Given the description of an element on the screen output the (x, y) to click on. 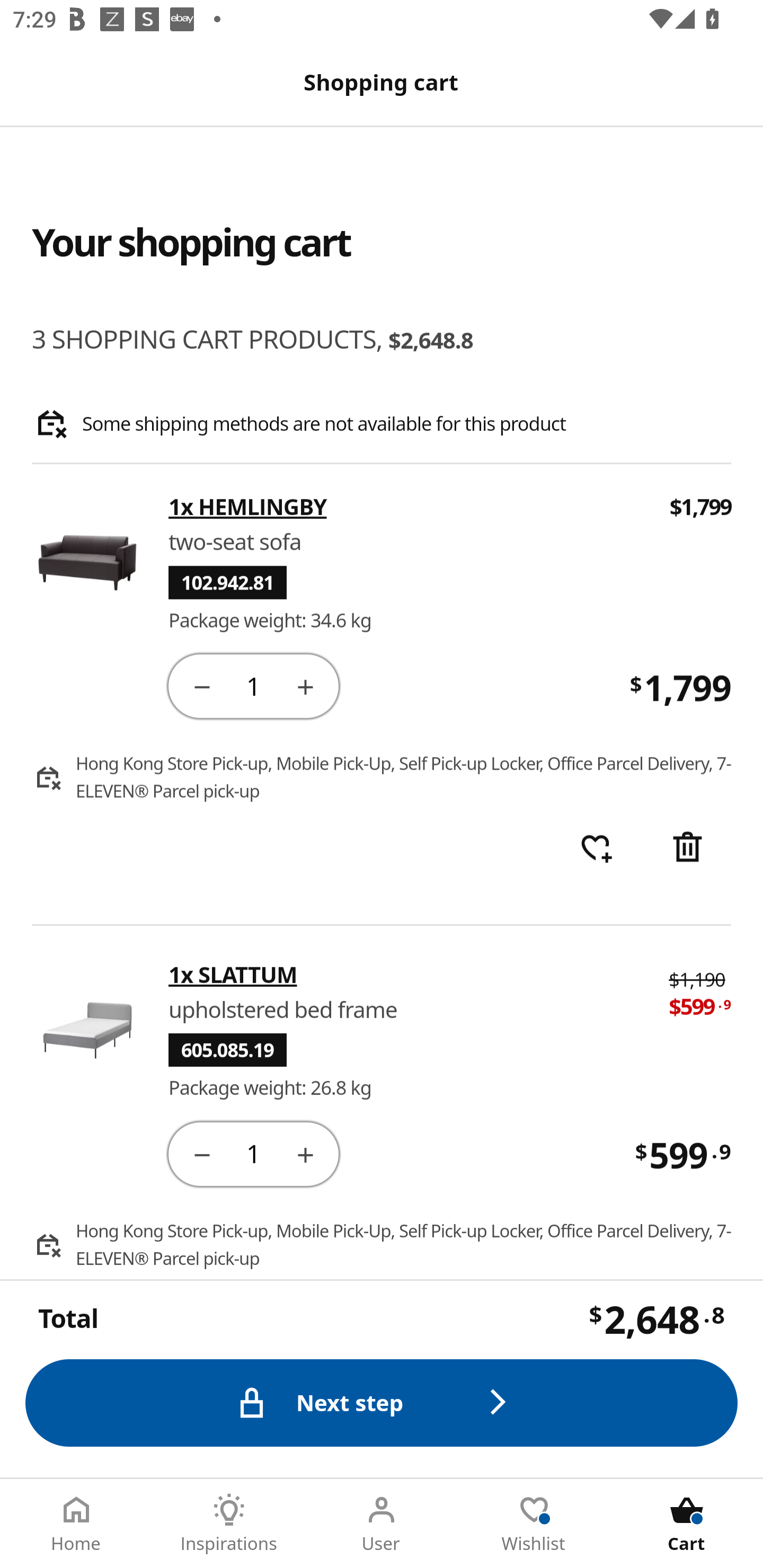
1x  HEMLINGBY 1x  HEMLINGBY (406, 507)
1 (253, 685)
 (201, 685)
 (305, 685)
  (595, 848)
 (686, 848)
1x  SLATTUM 1x  SLATTUM (405, 974)
1 (253, 1153)
 (201, 1153)
 (305, 1153)
Home
Tab 1 of 5 (76, 1522)
Inspirations
Tab 2 of 5 (228, 1522)
User
Tab 3 of 5 (381, 1522)
Wishlist
Tab 4 of 5 (533, 1522)
Cart
Tab 5 of 5 (686, 1522)
